Given the description of an element on the screen output the (x, y) to click on. 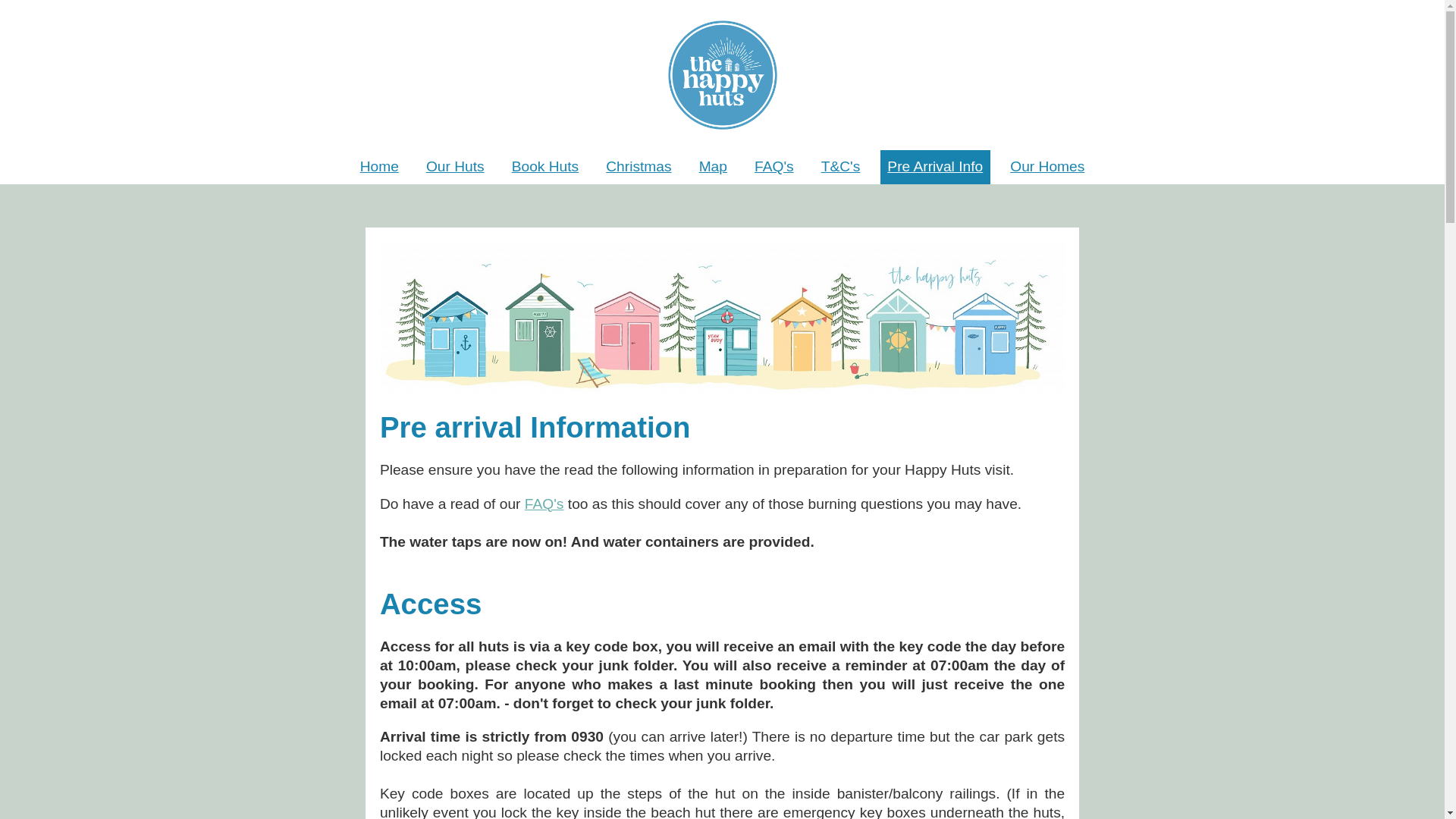
FAQ's (773, 166)
Christmas (638, 166)
Pre Arrival Info (934, 166)
Book Huts (545, 166)
Our Huts (455, 166)
FAQ's (544, 503)
Home (378, 166)
Map (712, 166)
HAPPY HUT MUG (722, 320)
Our Homes (1047, 166)
